Given the description of an element on the screen output the (x, y) to click on. 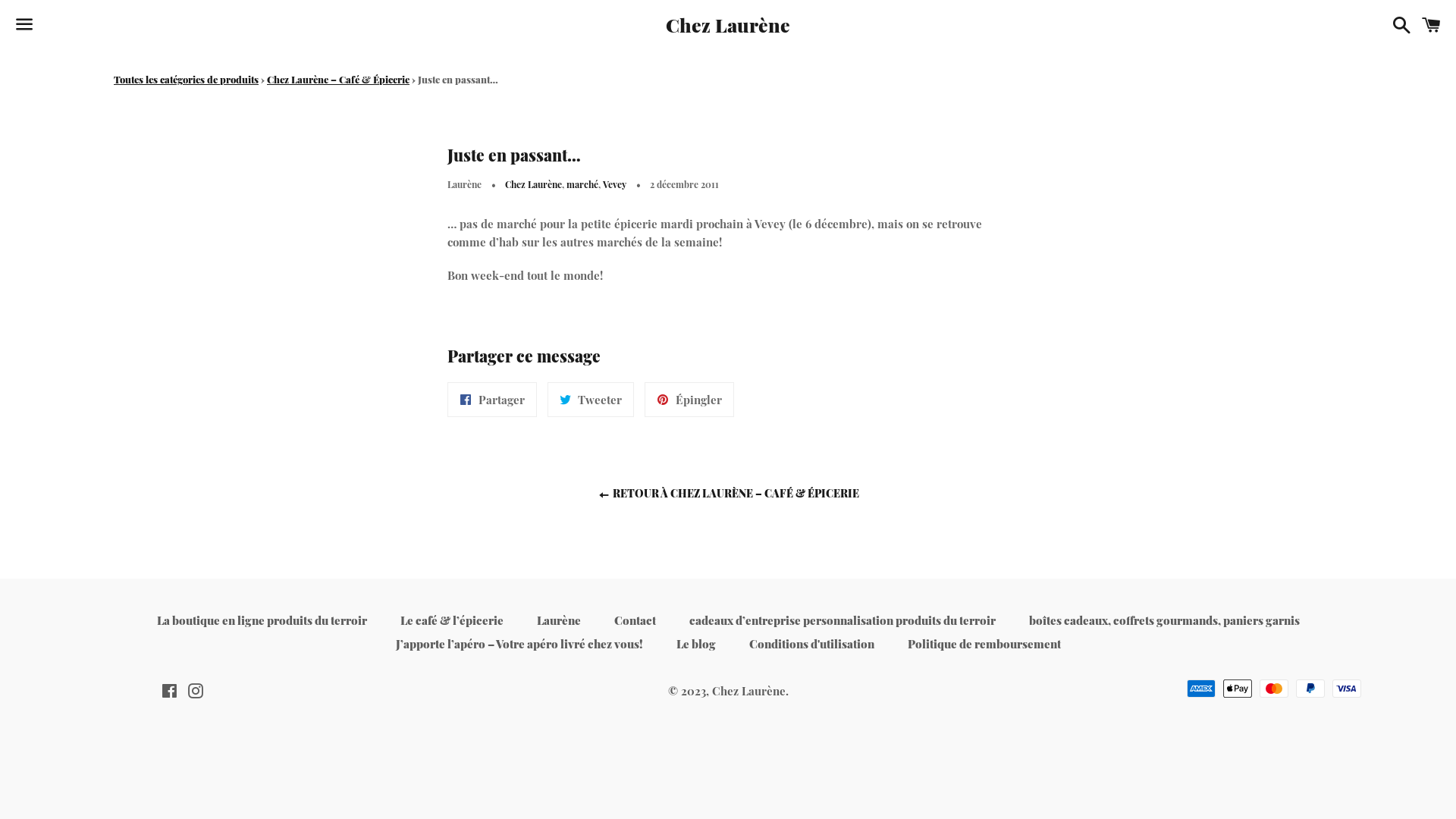
Politique de remboursement Element type: text (983, 643)
La boutique en ligne produits du terroir Element type: text (261, 620)
Recherche Element type: text (1397, 24)
Tweeter
Tweeter sur Twitter Element type: text (590, 399)
Panier Element type: text (1431, 24)
Contact Element type: text (635, 620)
Partager
Partager sur Facebook Element type: text (491, 399)
Vevey Element type: text (614, 184)
Menu Element type: text (24, 24)
Facebook Element type: text (168, 691)
Conditions d'utilisation Element type: text (811, 643)
Le blog Element type: text (696, 643)
Instagram Element type: text (195, 691)
